Given the description of an element on the screen output the (x, y) to click on. 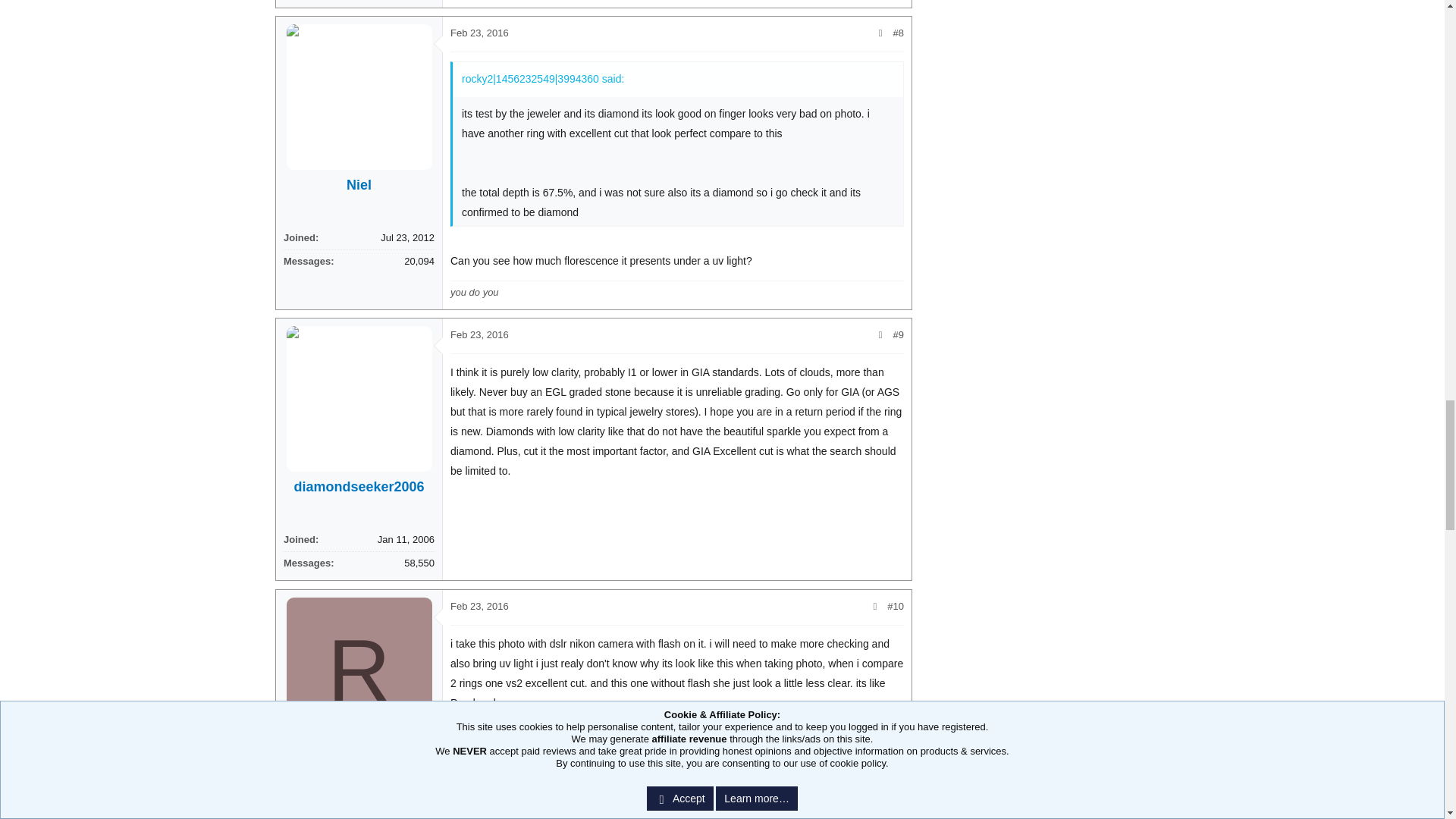
Feb 23, 2016 at 11:28 AM (478, 742)
Feb 23, 2016 at 11:23 AM (478, 269)
Feb 23, 2016 at 11:09 AM (478, 32)
Feb 23, 2016 at 11:25 AM (478, 505)
